Given the description of an element on the screen output the (x, y) to click on. 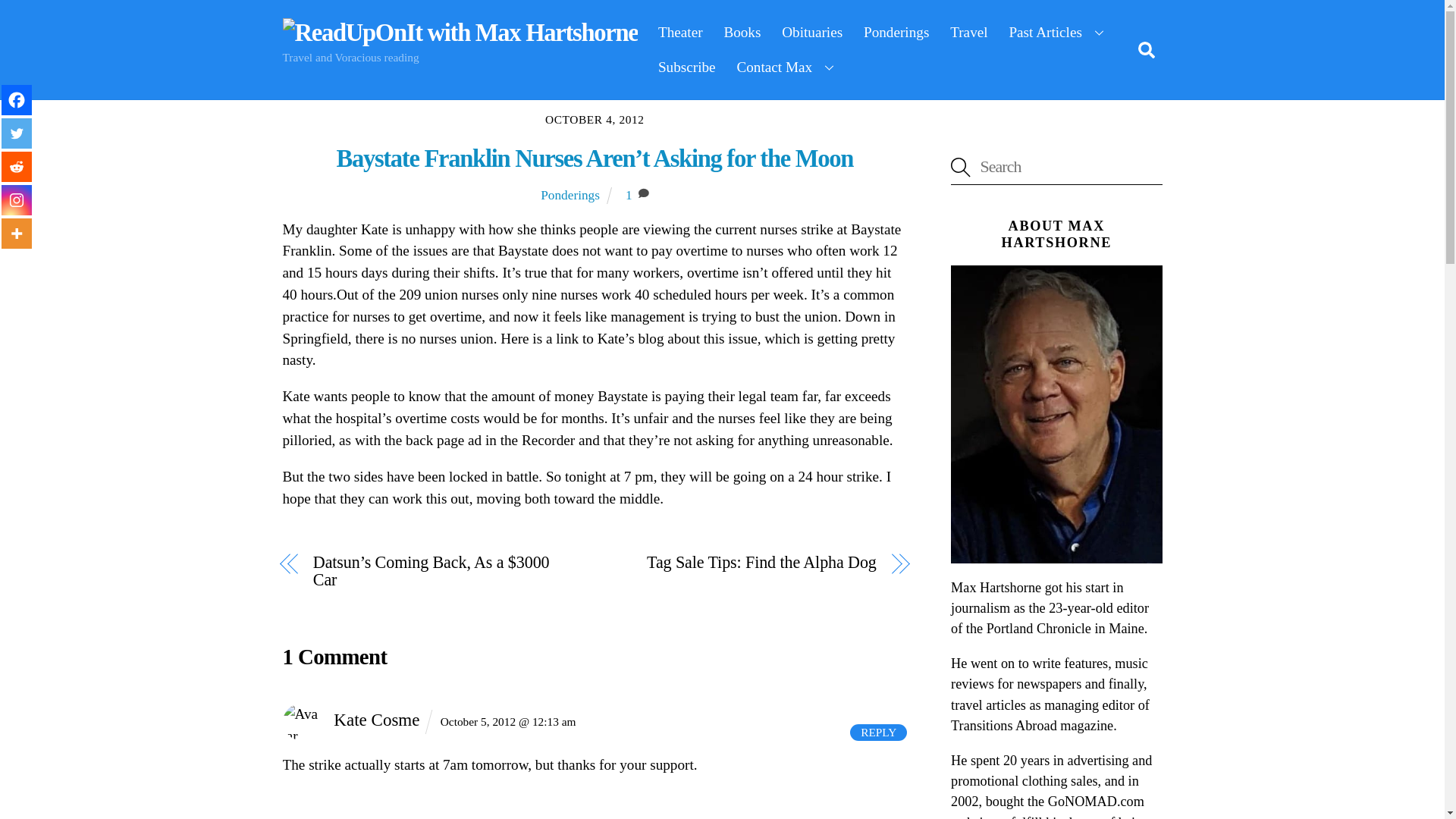
Obituaries (812, 31)
Search (1145, 49)
Twitter (16, 132)
Books (742, 31)
Theater (680, 31)
Reddit (16, 166)
More (16, 233)
Ponderings (896, 31)
Past Articles (1058, 31)
Tag Sale Tips: Find the Alpha Dog (744, 561)
